Given the description of an element on the screen output the (x, y) to click on. 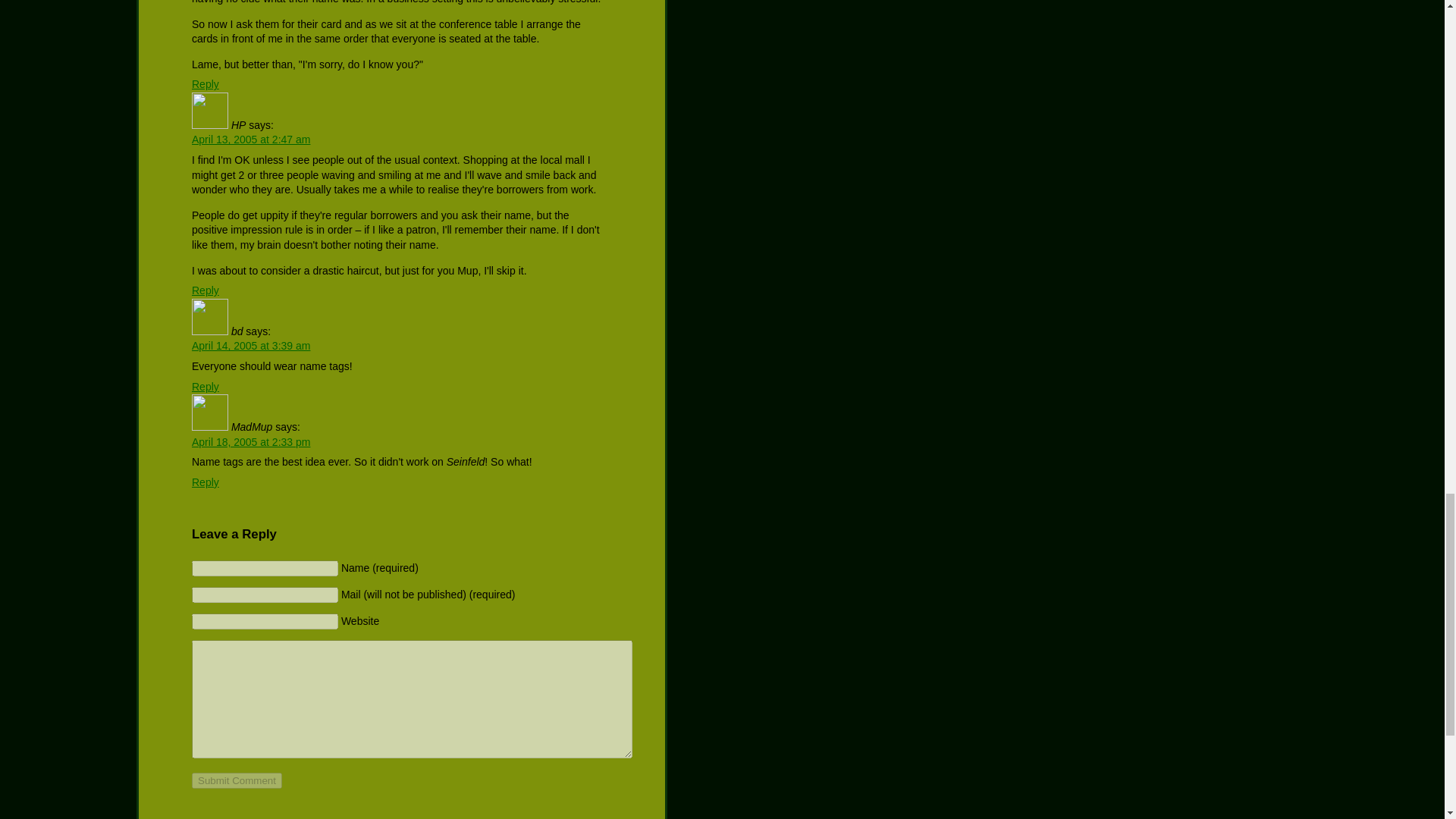
Reply (205, 386)
April 13, 2005 at 2:47 am (251, 139)
Reply (205, 481)
Reply (205, 290)
Submit Comment (237, 780)
April 18, 2005 at 2:33 pm (251, 441)
Reply (205, 83)
Submit Comment (237, 780)
April 14, 2005 at 3:39 am (251, 345)
